Given the description of an element on the screen output the (x, y) to click on. 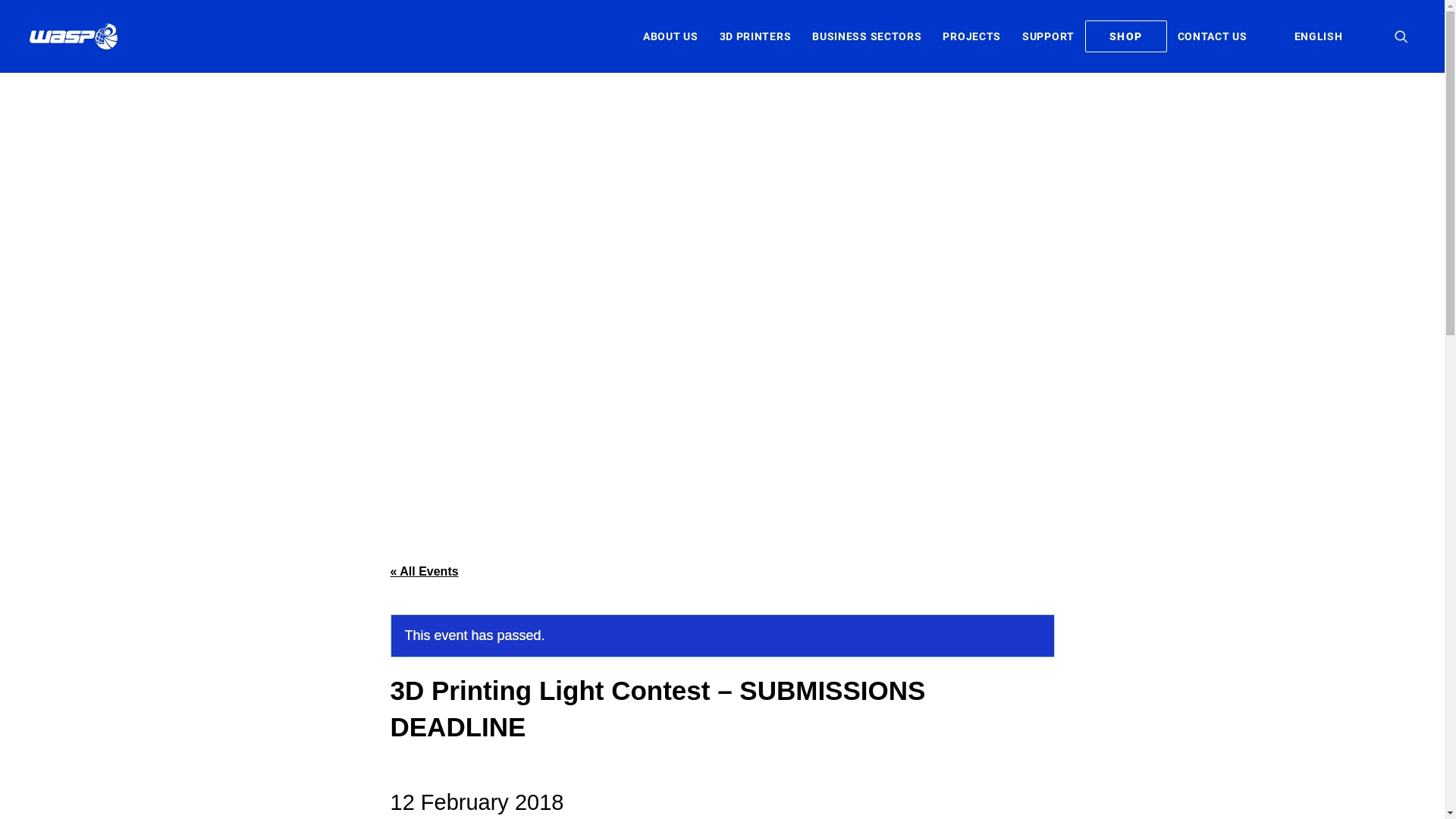
ENGLISH Element type: text (1318, 36)
PROJECTS Element type: text (971, 36)
SUPPORT Element type: text (1048, 36)
3D PRINTERS Element type: text (755, 36)
SHOP Element type: text (1126, 36)
ABOUT US Element type: text (670, 36)
BUSINESS SECTORS Element type: text (866, 36)
CONTACT US Element type: text (1212, 36)
